Given the description of an element on the screen output the (x, y) to click on. 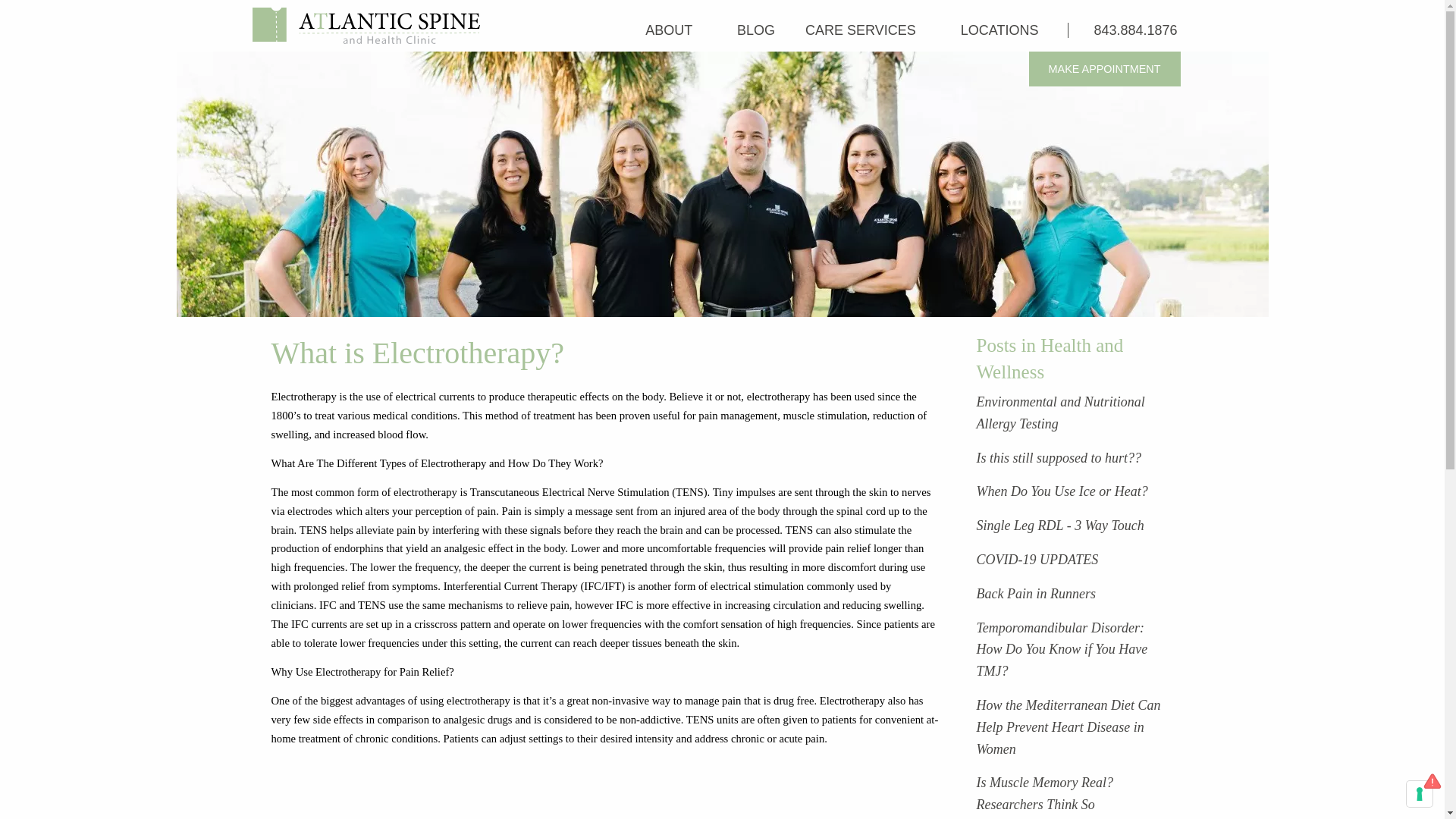
CARE SERVICES (867, 30)
843.884.1876 (1129, 30)
Is Muscle Memory Real? Researchers Think So (1044, 793)
When Do You Use Ice or Heat? (1062, 491)
Temporomandibular Disorder: How Do You Know if You Have TMJ? (1062, 649)
Single Leg RDL - 3 Way Touch (1060, 525)
COVID-19 UPDATES (1037, 559)
MAKE APPOINTMENT (1104, 68)
LOCATIONS (1006, 30)
ABOUT (676, 30)
Is this still supposed to hurt?? (1058, 458)
Back Pain in Runners (1036, 593)
Environmental and Nutritional Allergy Testing (1060, 412)
BLOG (756, 30)
